Given the description of an element on the screen output the (x, y) to click on. 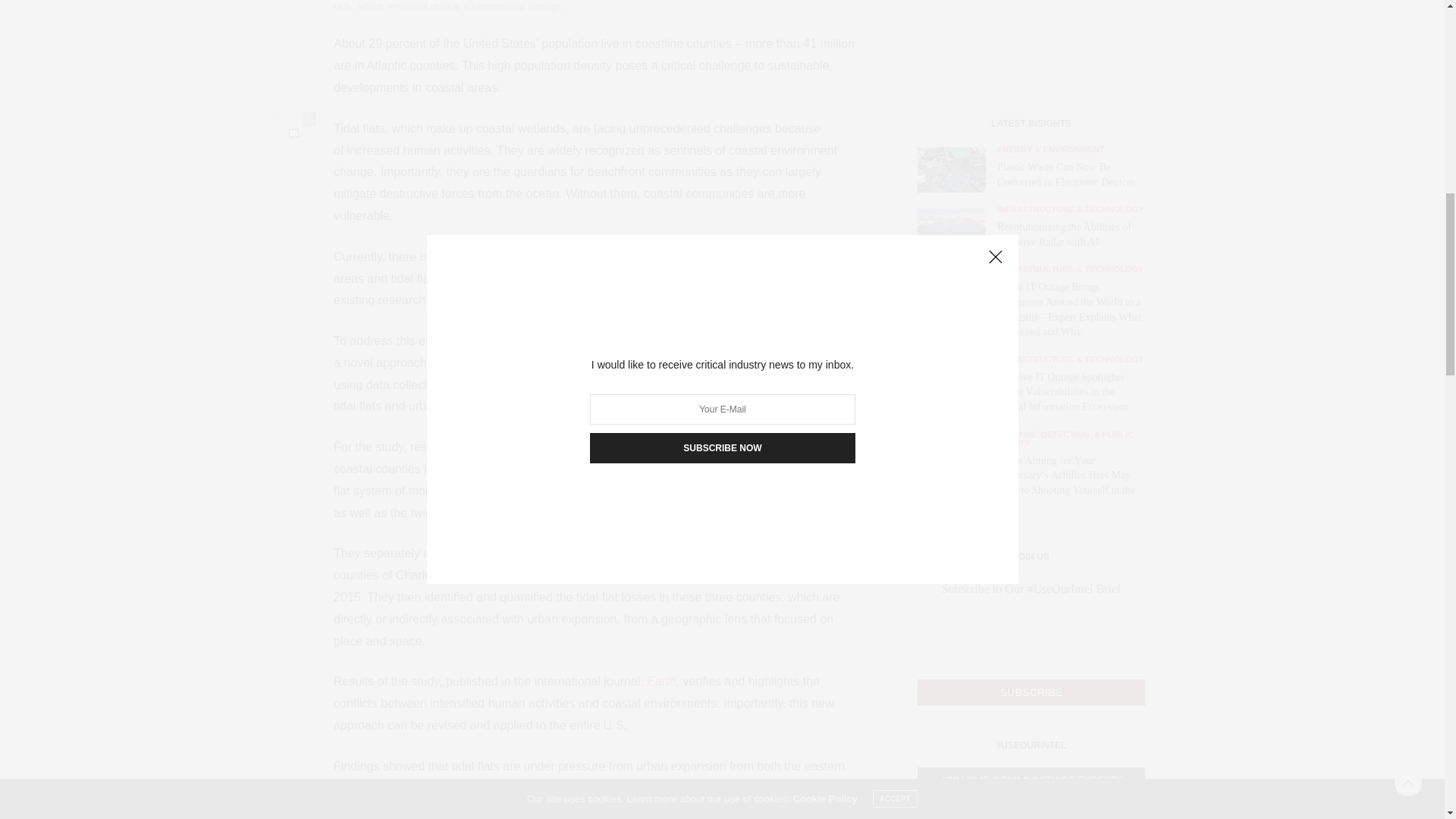
Florida Atlantic University (695, 340)
SUBMIT (1030, 542)
Earth (660, 680)
SUBSCRIBE (1030, 80)
